Given the description of an element on the screen output the (x, y) to click on. 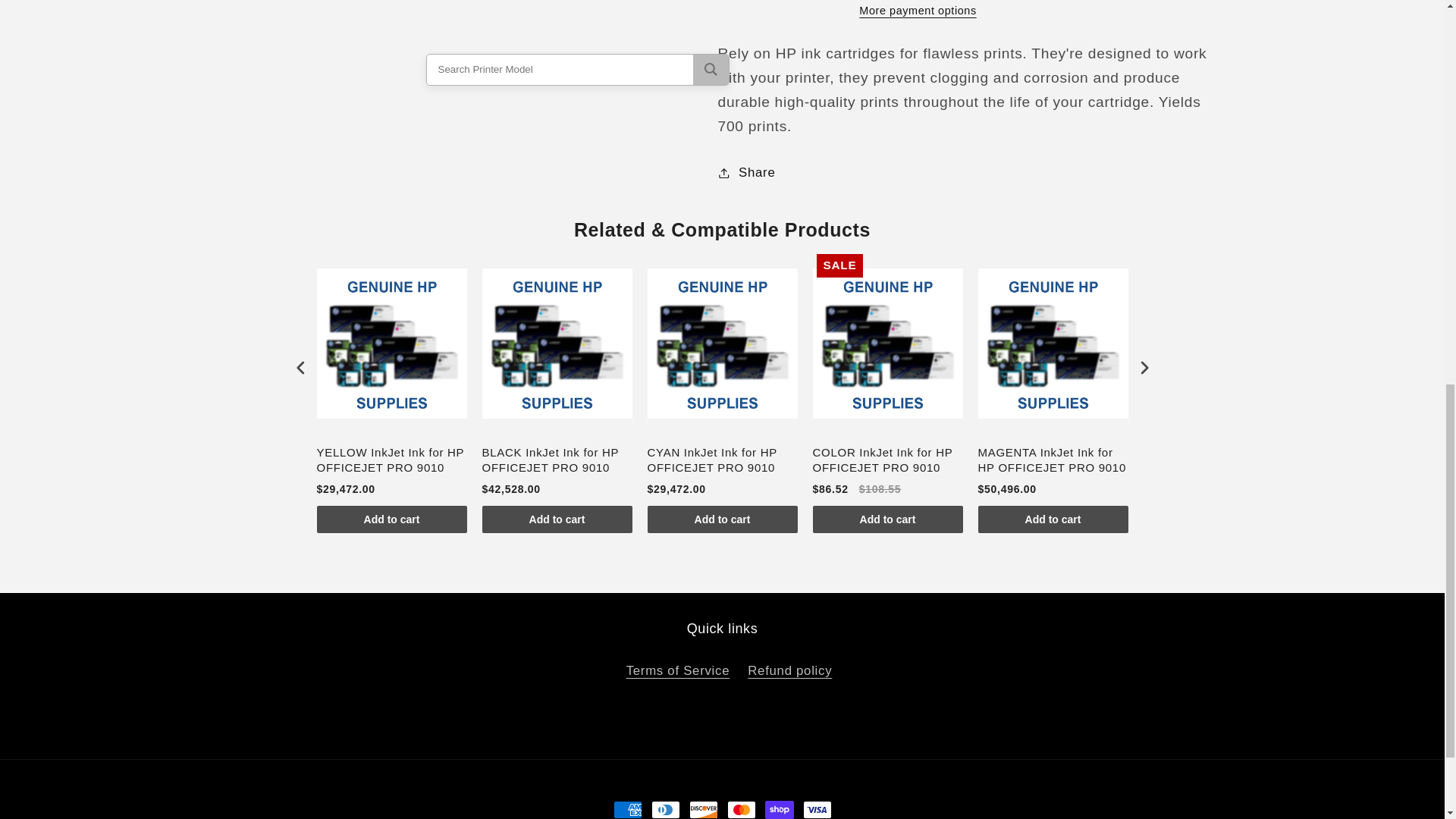
More payment options (917, 2)
